Given the description of an element on the screen output the (x, y) to click on. 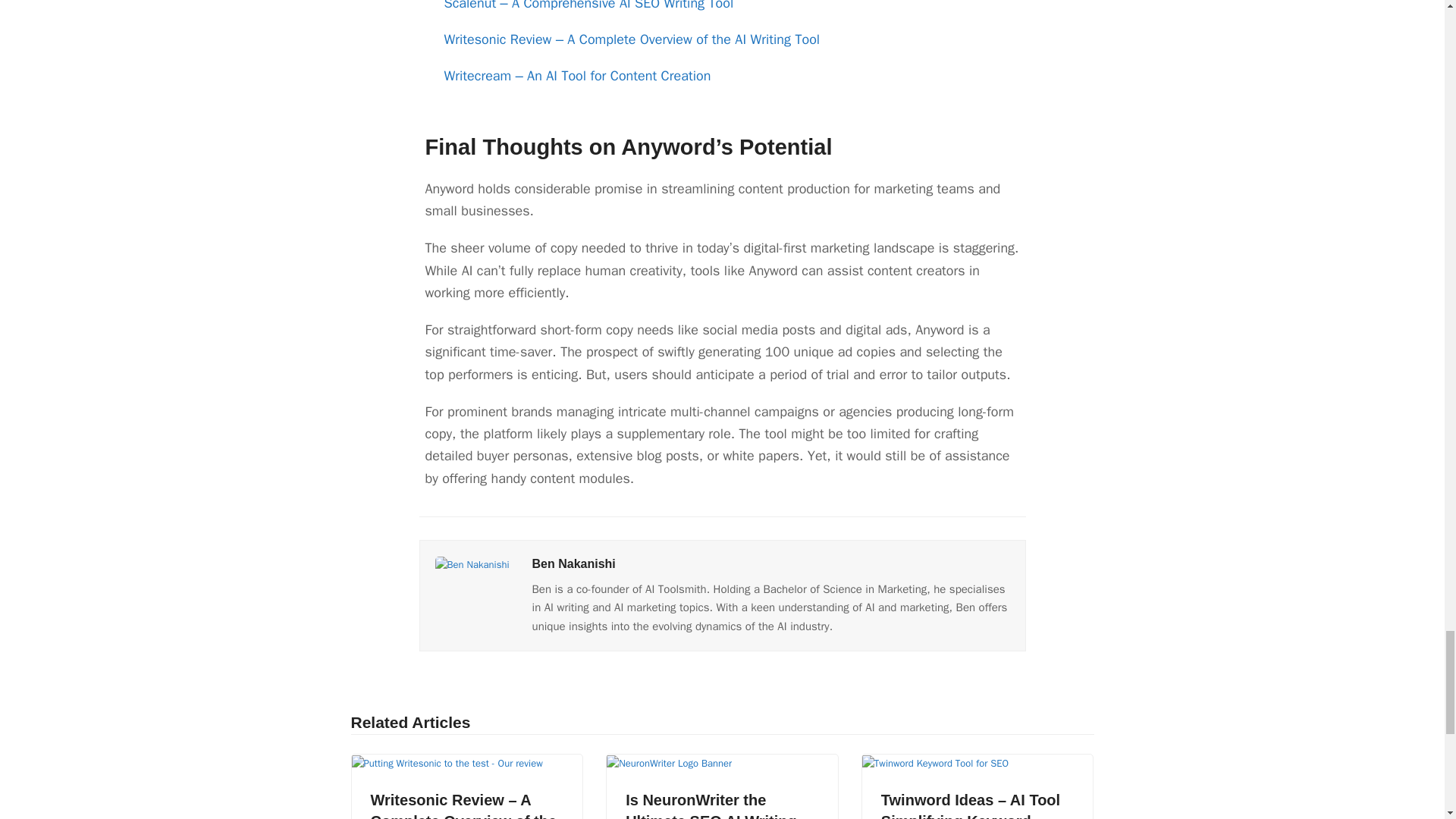
Ben Nakanishi (573, 563)
Visit Author Page (472, 563)
Visit Author Page (573, 563)
Is NeuronWriter the Ultimate SEO AI Writing Tool? (711, 805)
